Given the description of an element on the screen output the (x, y) to click on. 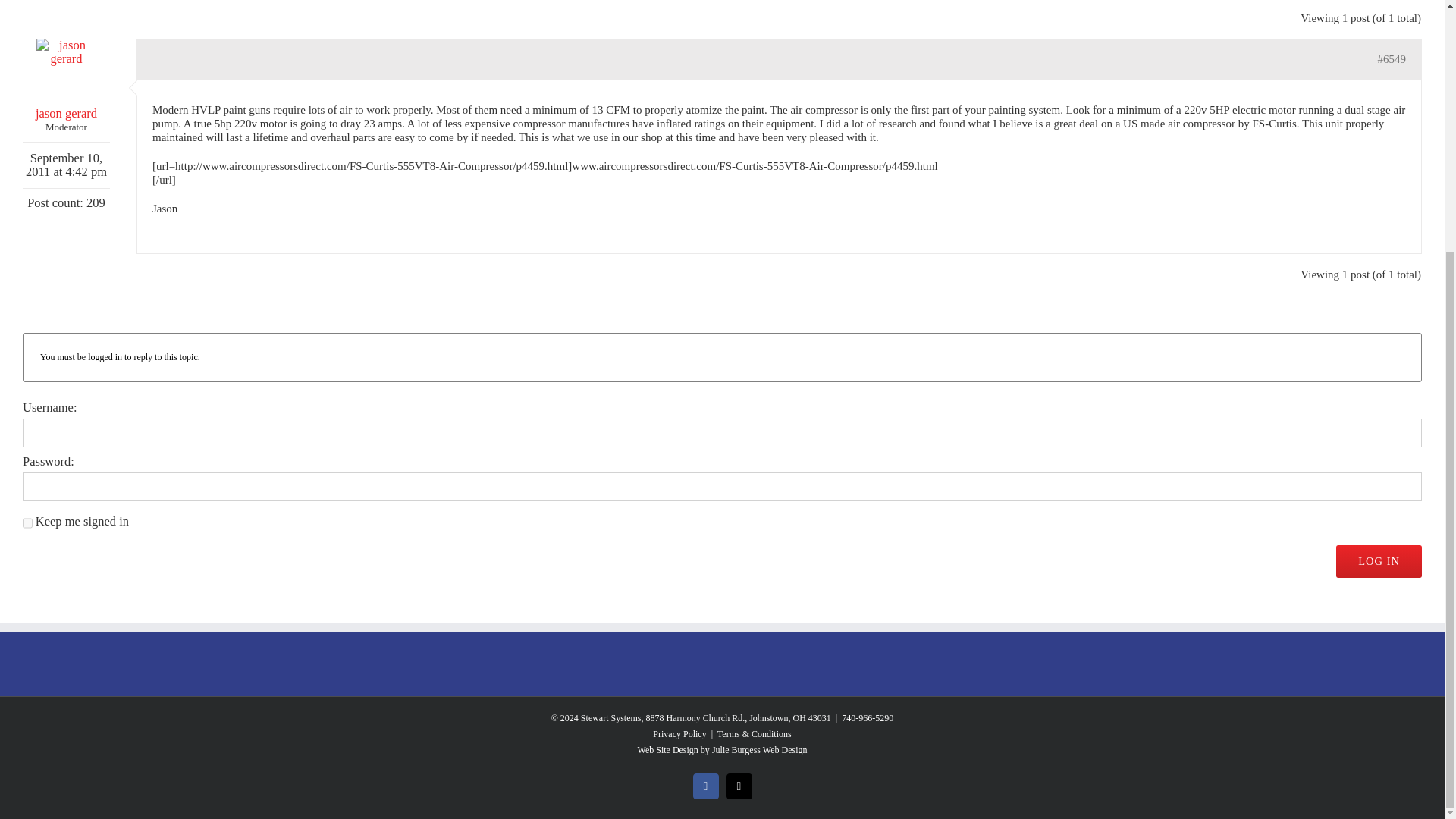
X (739, 786)
Facebook (706, 786)
View jason gerard's profile (66, 78)
jason gerard (66, 78)
